Given the description of an element on the screen output the (x, y) to click on. 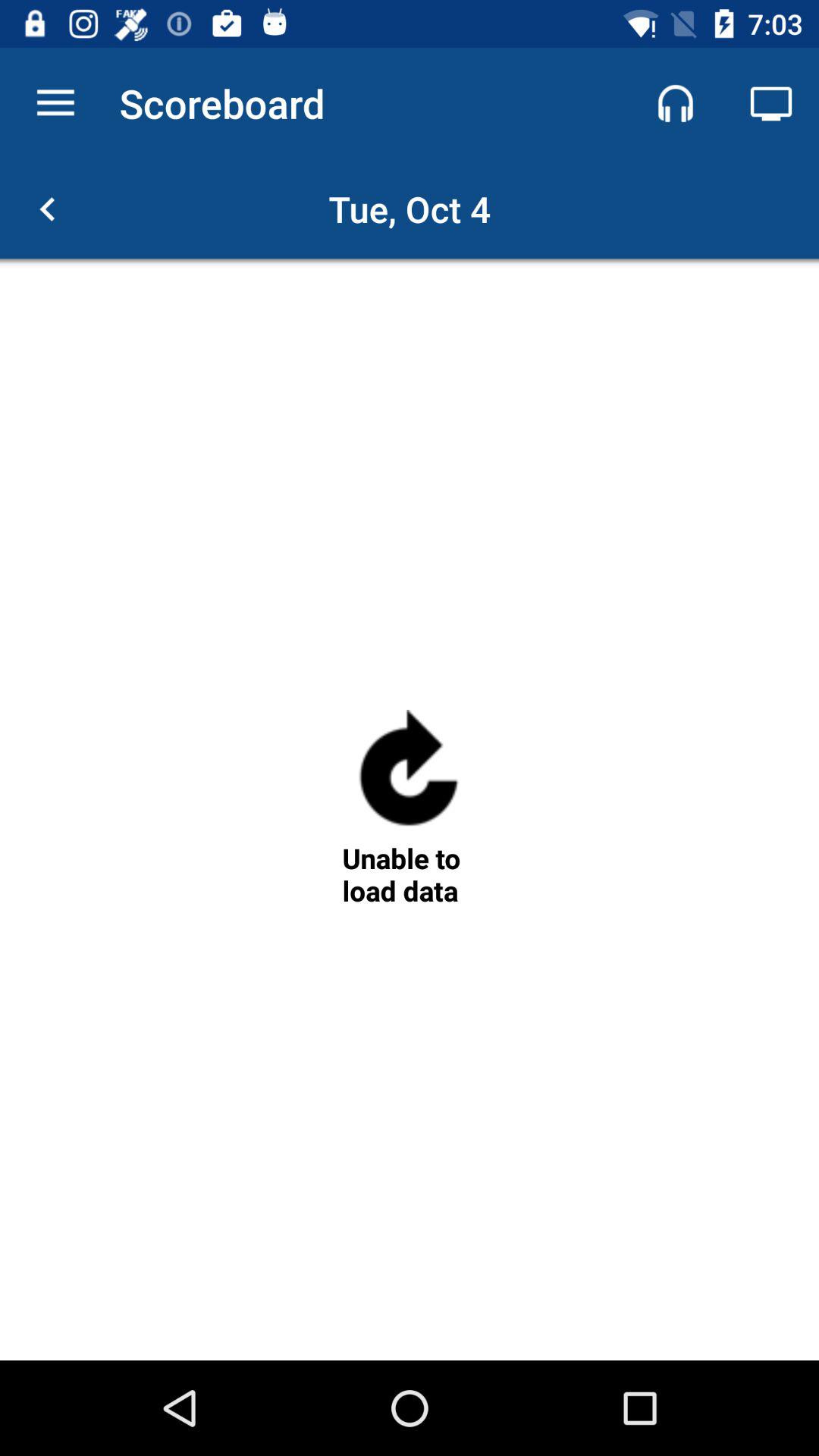
click icon to the left of the tue, oct 4 (47, 208)
